Given the description of an element on the screen output the (x, y) to click on. 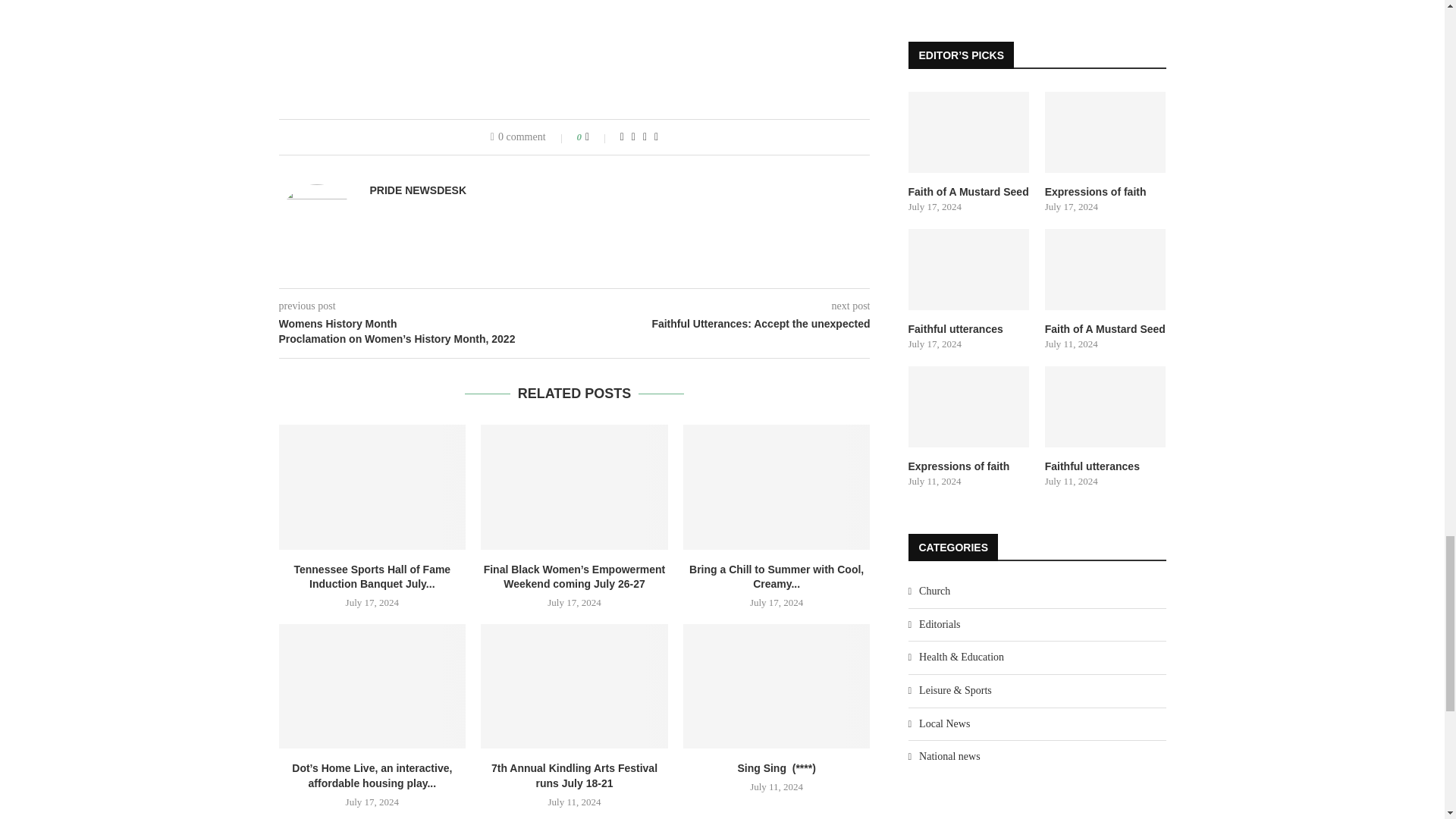
7th Annual Kindling Arts Festival runs July 18-21 (574, 686)
Tennessee Sports Hall of Fame Induction Banquet July 20 (372, 486)
Like (597, 137)
Bring a Chill to Summer with Cool, Creamy Cheesecake (776, 486)
Author PRIDE Newsdesk (418, 190)
